Given the description of an element on the screen output the (x, y) to click on. 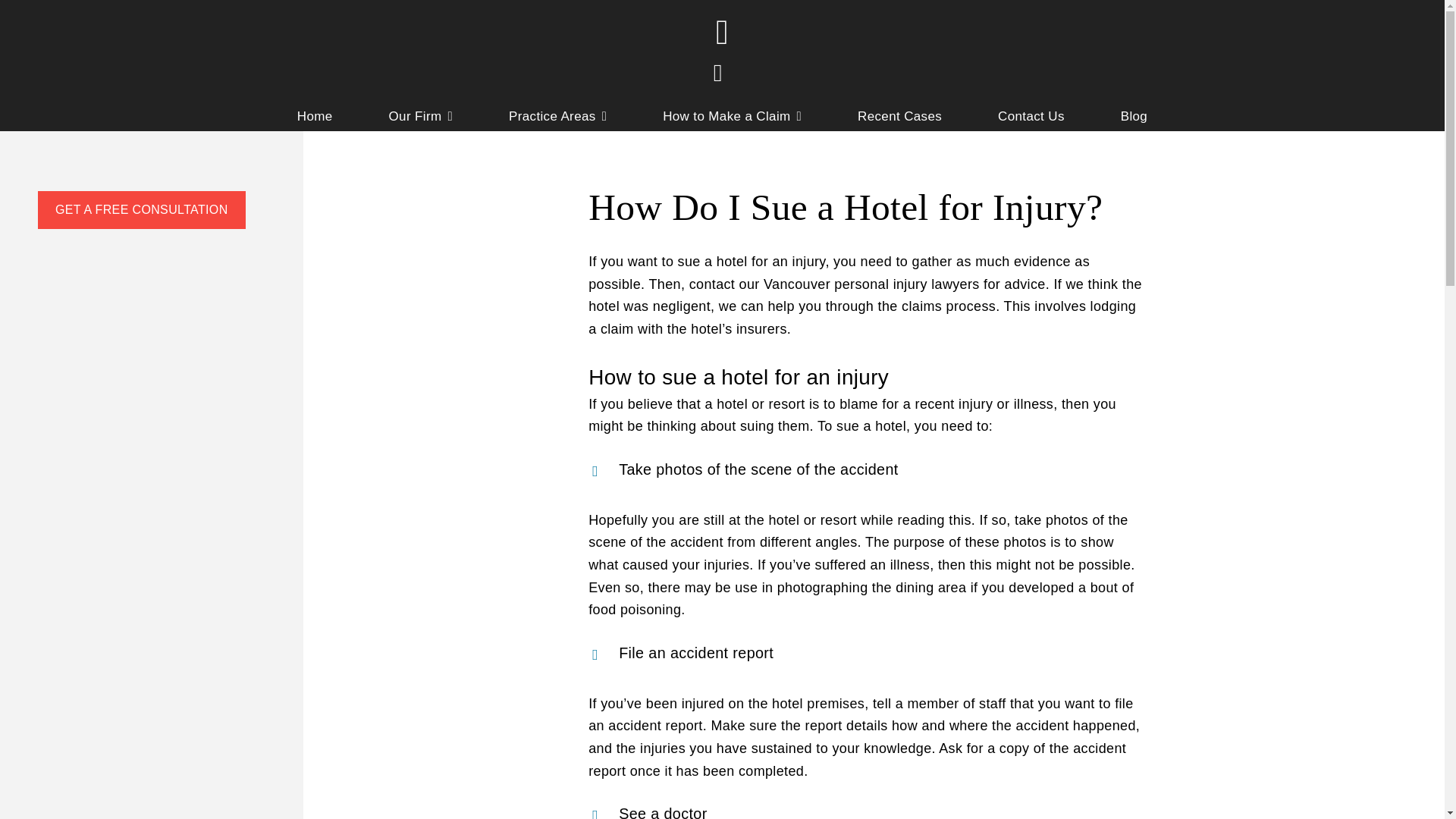
Home (315, 117)
Practice Areas (557, 117)
John Mickelson - Law Corporation (722, 50)
Our Firm (420, 117)
Blog (1134, 117)
Contact Us (1030, 117)
How to Make a Claim (732, 117)
Recent Cases (899, 117)
